Given the description of an element on the screen output the (x, y) to click on. 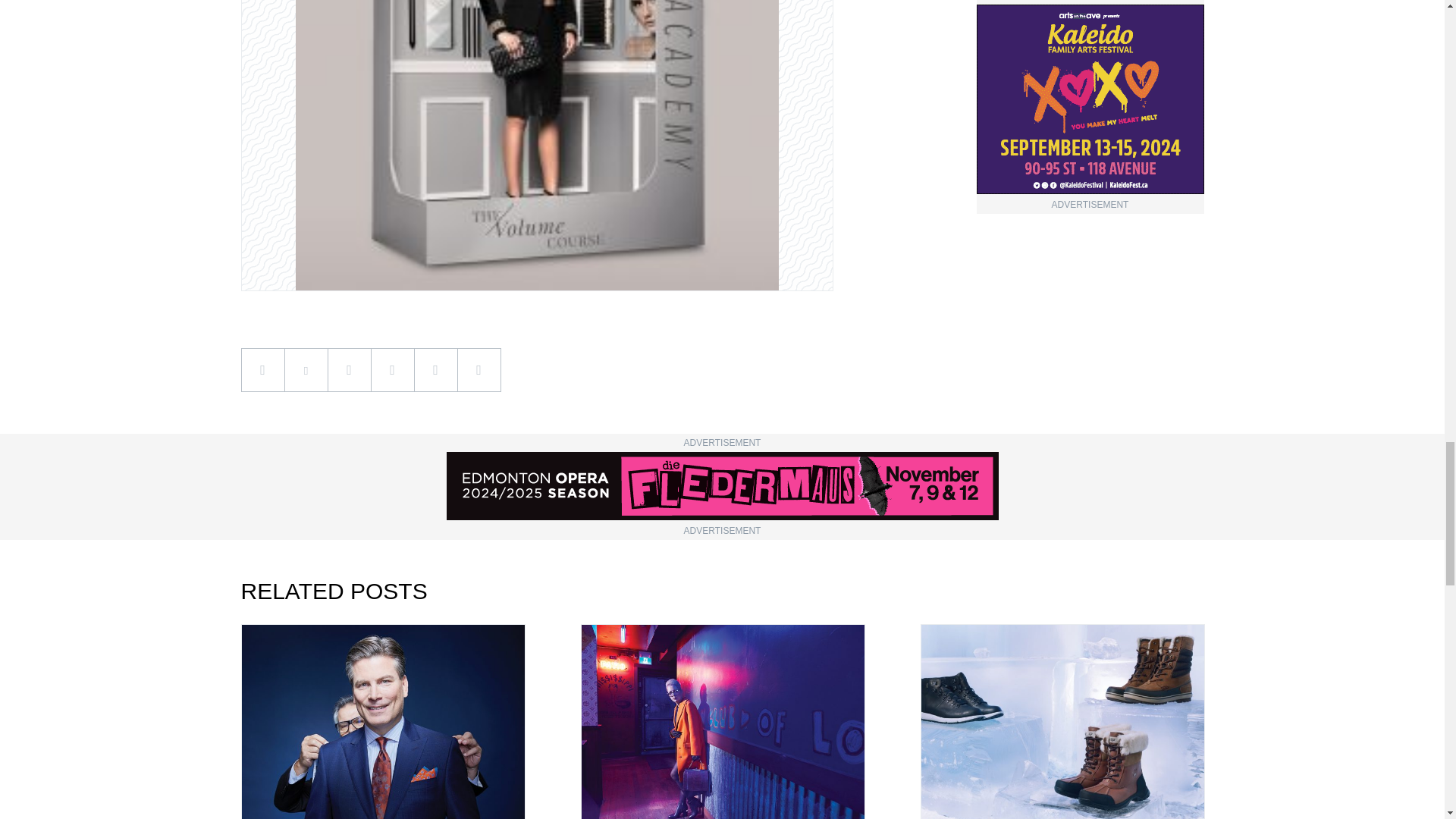
Arts on the Ave Edmonton Society BB.August2024 (1090, 99)
Edmonton Opera LB.September2024 (721, 486)
The Right Fit (382, 721)
Winter is Coming (1062, 721)
Vintage in Vogue (721, 721)
Vintage in Vogue (722, 721)
The Right Fit (383, 721)
